Given the description of an element on the screen output the (x, y) to click on. 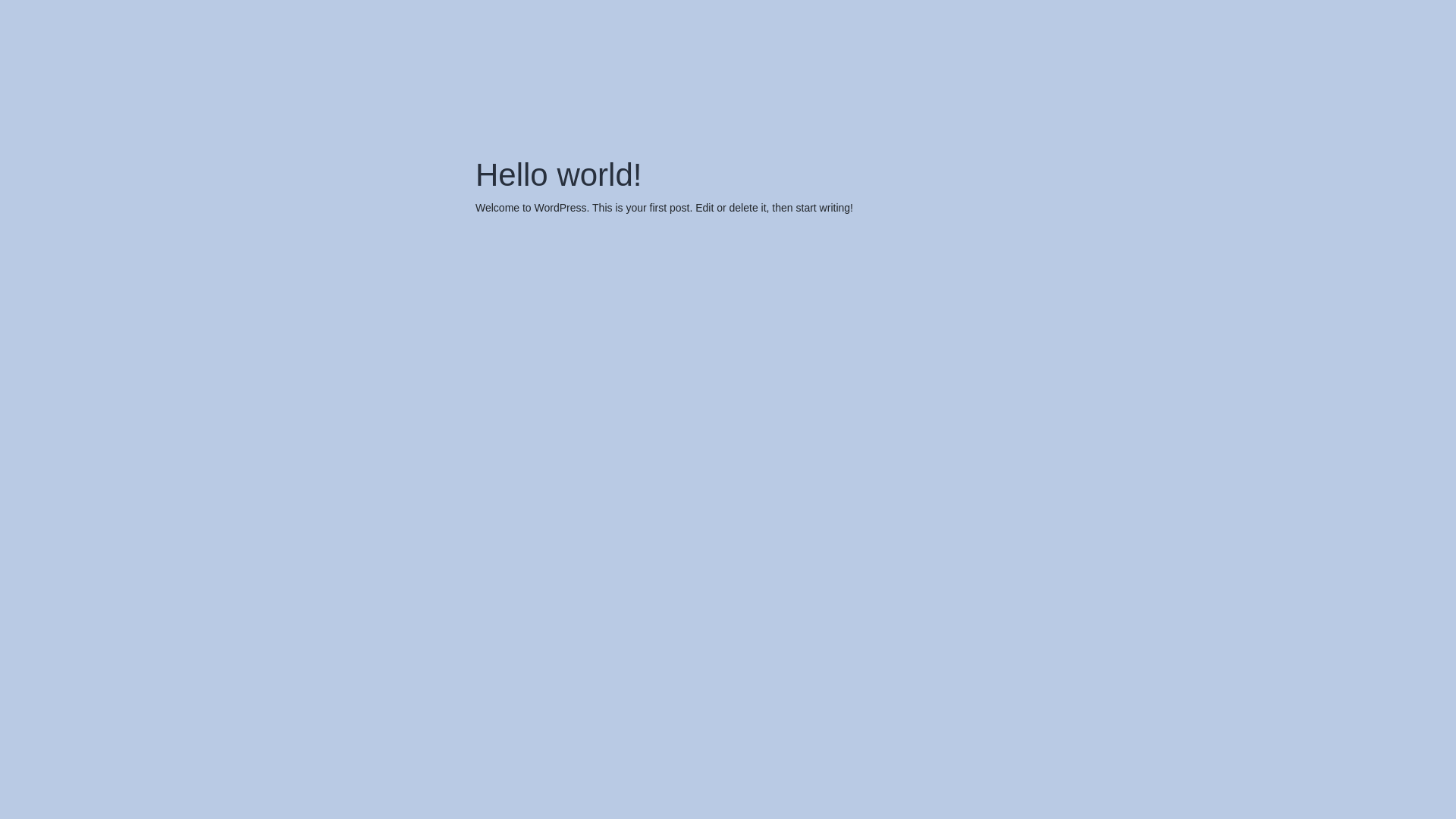
Hello world! Element type: text (558, 174)
